Given the description of an element on the screen output the (x, y) to click on. 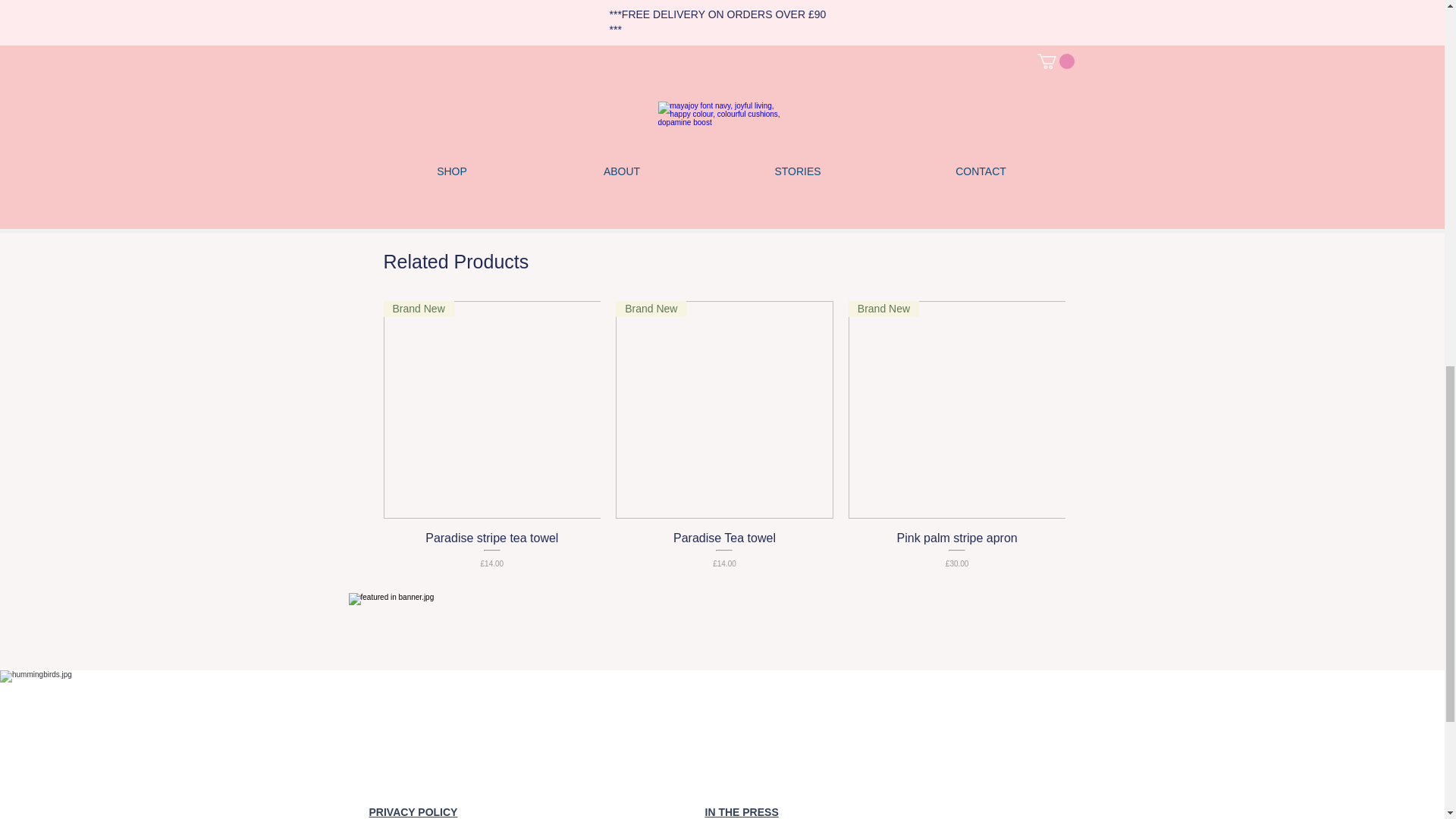
Brand New (492, 409)
Brand New (723, 409)
Brand New (956, 409)
